Given the description of an element on the screen output the (x, y) to click on. 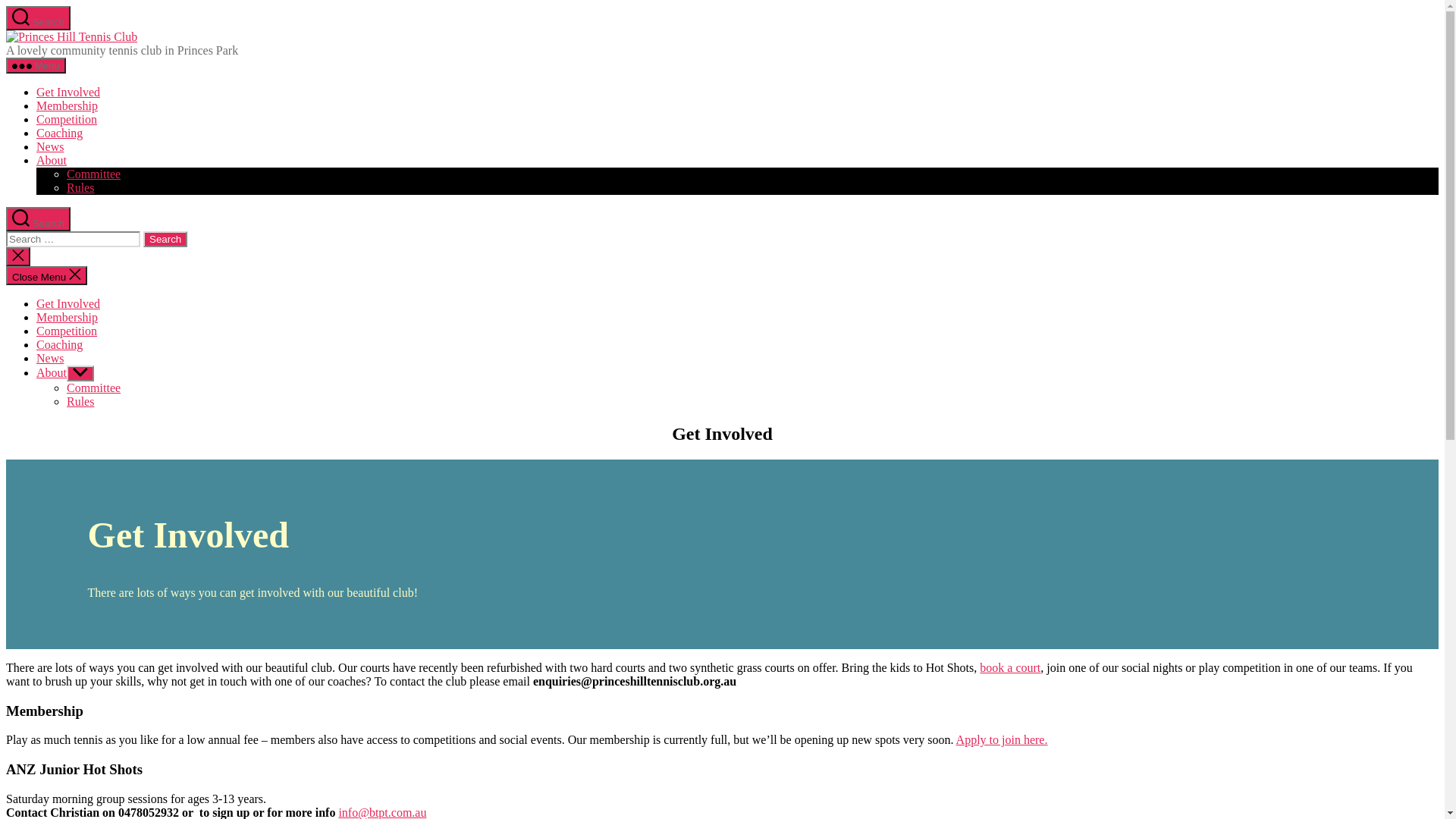
About Element type: text (51, 372)
News Element type: text (49, 146)
Rules Element type: text (80, 187)
Menu Element type: text (35, 65)
Competition Element type: text (66, 118)
News Element type: text (49, 357)
book a court Element type: text (1009, 667)
Competition Element type: text (66, 330)
Committee Element type: text (93, 173)
Search Element type: text (38, 18)
Committee Element type: text (93, 387)
About Element type: text (51, 159)
Membership Element type: text (66, 105)
Apply to join here. Element type: text (1002, 739)
Get Involved Element type: text (68, 91)
Show sub menu Element type: text (80, 373)
Close search Element type: text (18, 256)
Coaching Element type: text (59, 132)
Coaching Element type: text (59, 344)
Membership Element type: text (66, 316)
Get Involved Element type: text (68, 303)
Search Element type: text (165, 239)
Skip to the content Element type: text (5, 5)
Search Element type: text (38, 219)
Close Menu Element type: text (46, 275)
Rules Element type: text (80, 401)
